Given the description of an element on the screen output the (x, y) to click on. 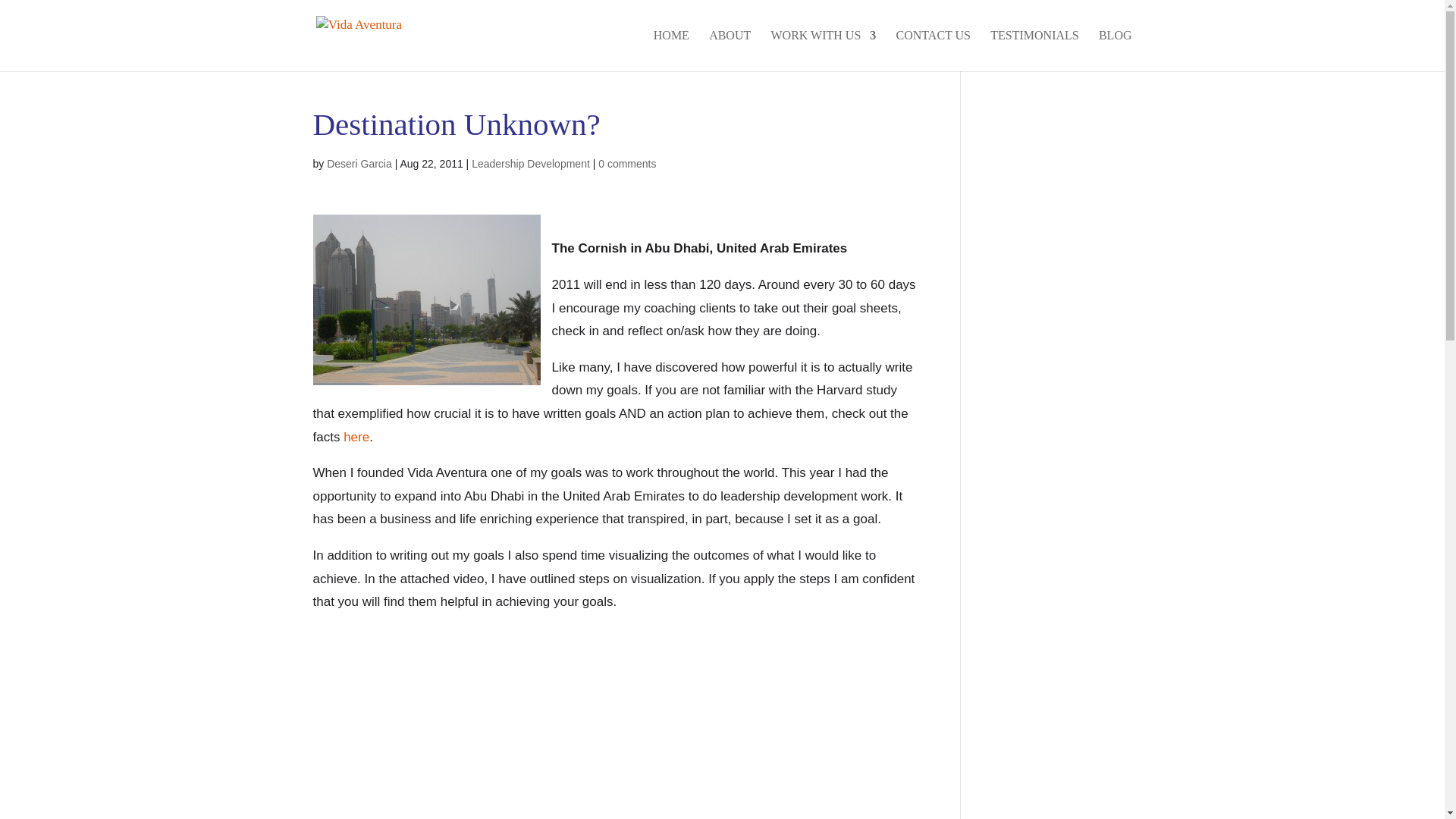
0 comments (627, 163)
ABOUT (730, 50)
Deseri Garcia (358, 163)
WORK WITH US (823, 50)
Posts by Deseri Garcia (358, 163)
Leadership Development (530, 163)
CONTACT US (933, 50)
TESTIMONIALS (1034, 50)
here (356, 436)
